Given the description of an element on the screen output the (x, y) to click on. 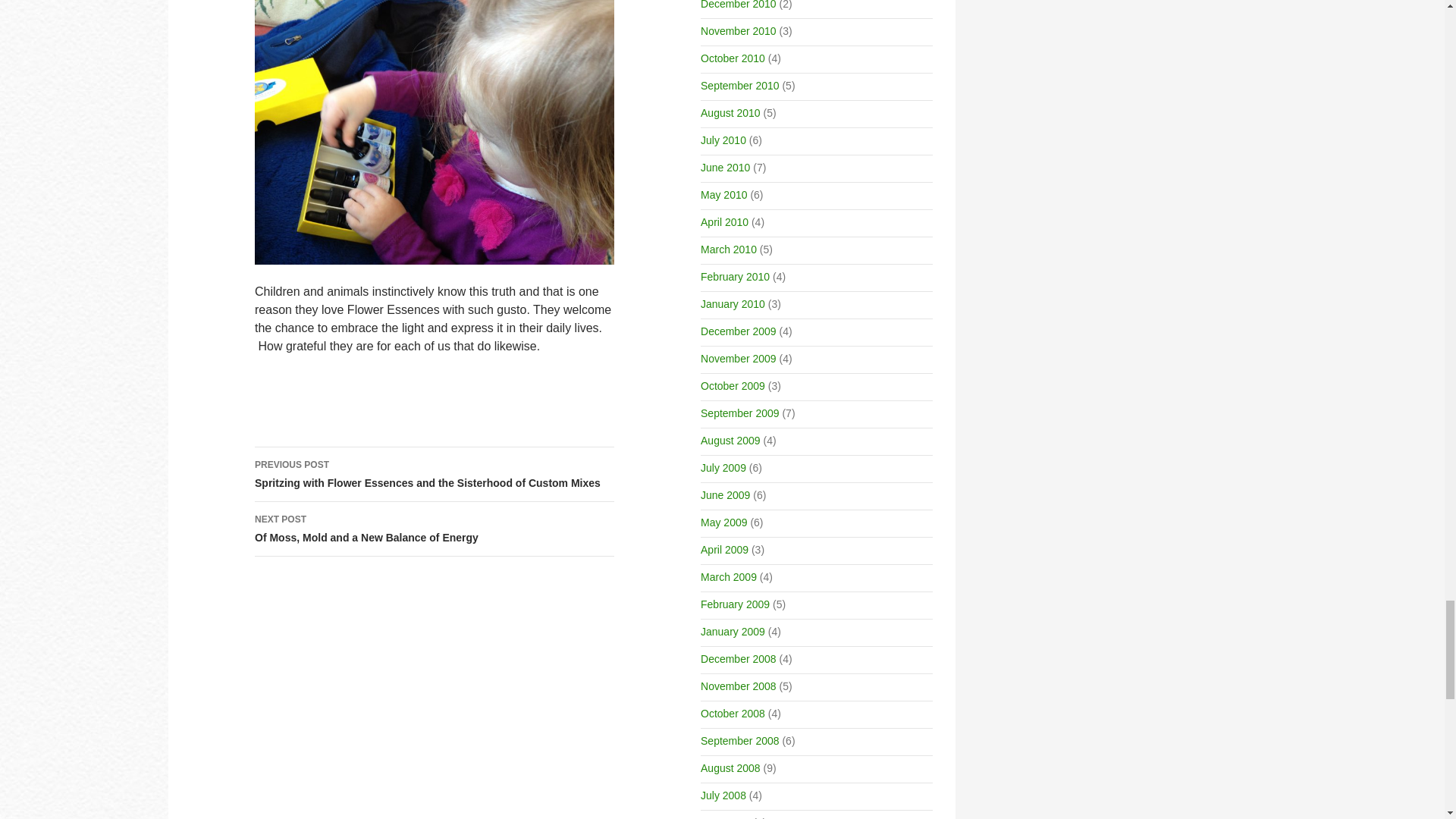
Page 2 (434, 529)
